Given the description of an element on the screen output the (x, y) to click on. 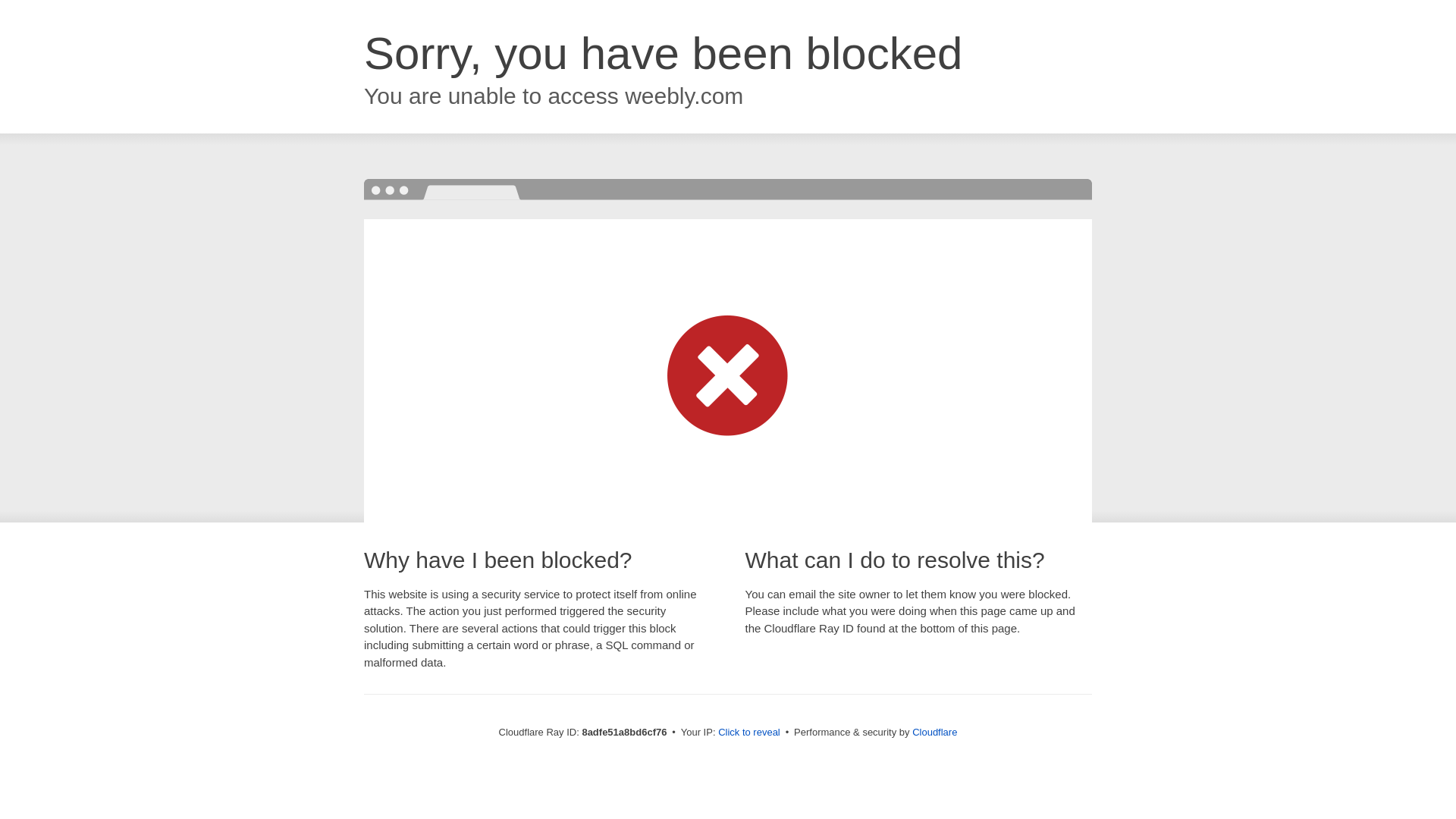
Cloudflare (934, 731)
Click to reveal (748, 732)
